Given the description of an element on the screen output the (x, y) to click on. 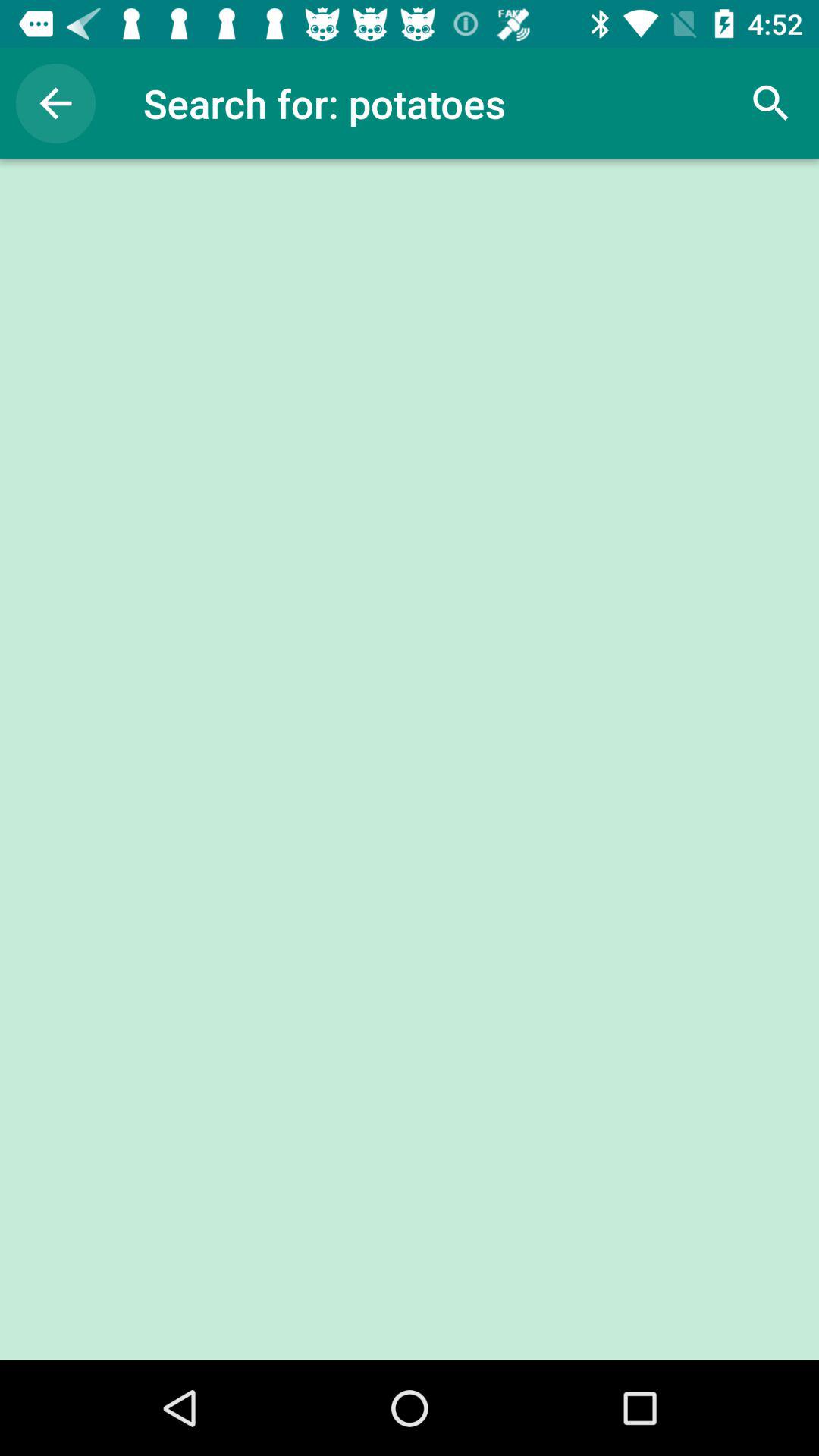
launch the item at the center (409, 759)
